Given the description of an element on the screen output the (x, y) to click on. 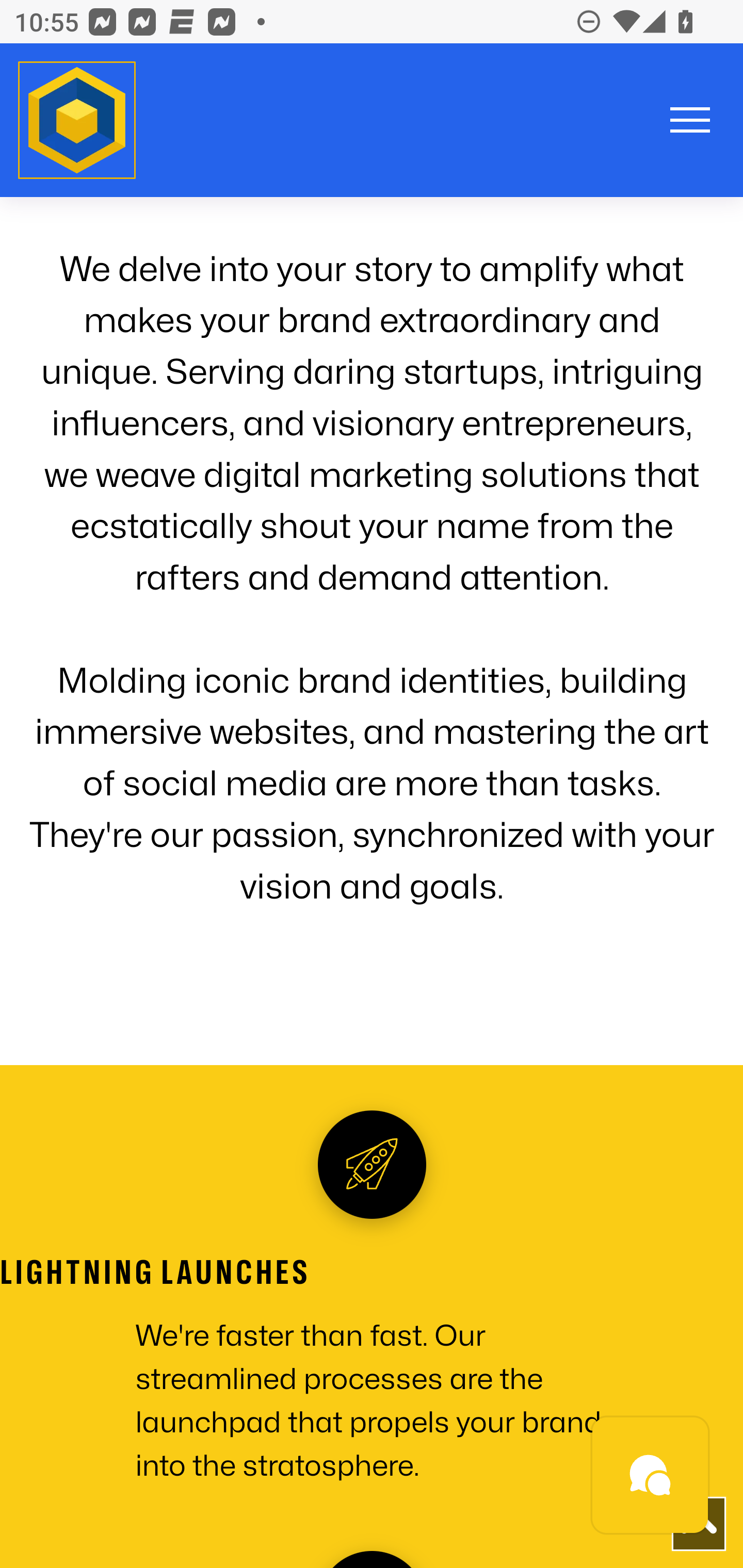
LUMI-ID-Avatar_Transparent-640w (77, 121)
menu opener (690, 121)
bubble-icon (650, 1477)
